Given the description of an element on the screen output the (x, y) to click on. 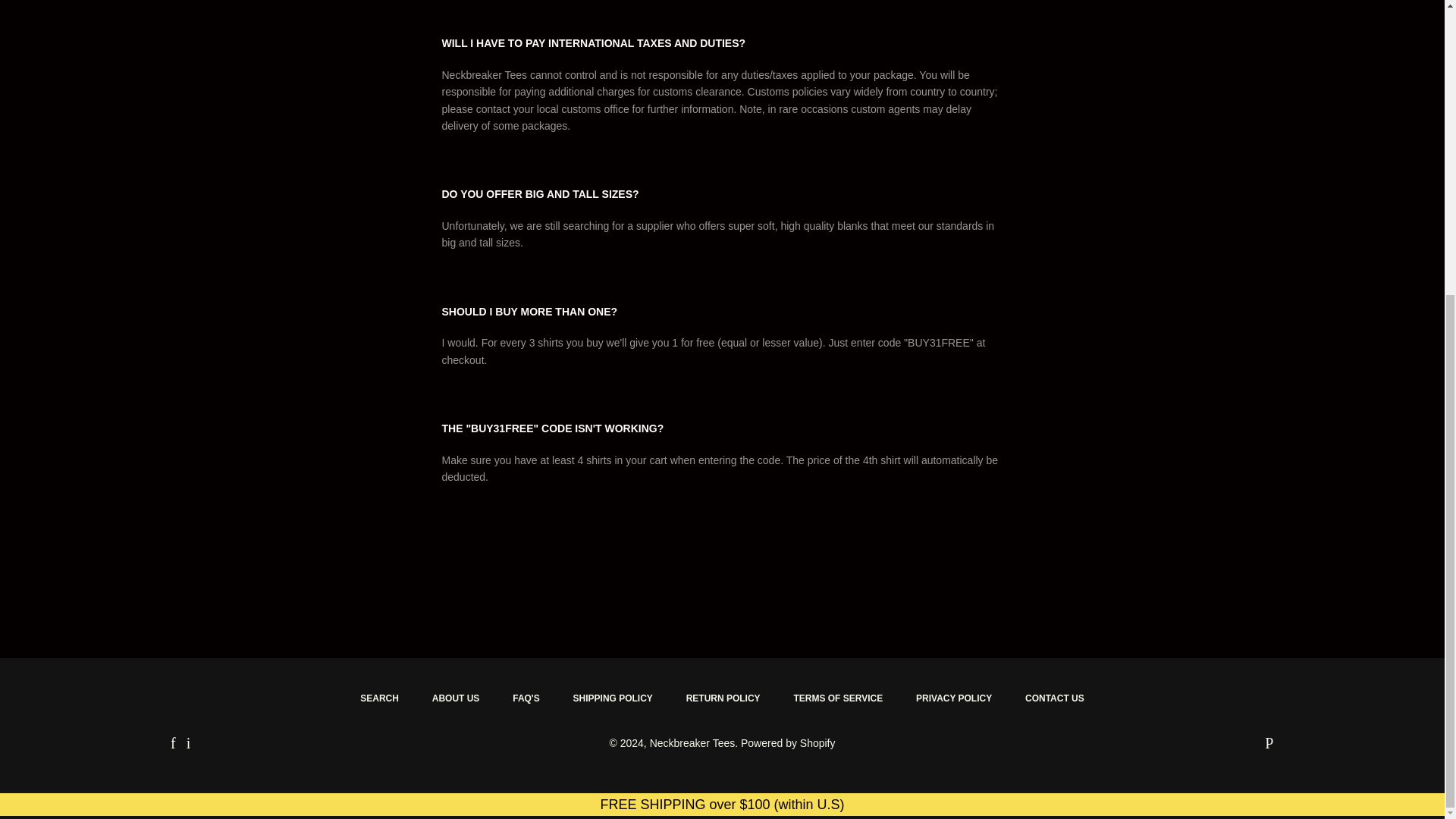
SHIPPING POLICY (612, 698)
ABOUT US (455, 698)
CONTACT US (1054, 698)
FAQ'S (525, 698)
RETURN POLICY (723, 698)
PRIVACY POLICY (954, 698)
SEARCH (379, 698)
TERMS OF SERVICE (837, 698)
